Given the description of an element on the screen output the (x, y) to click on. 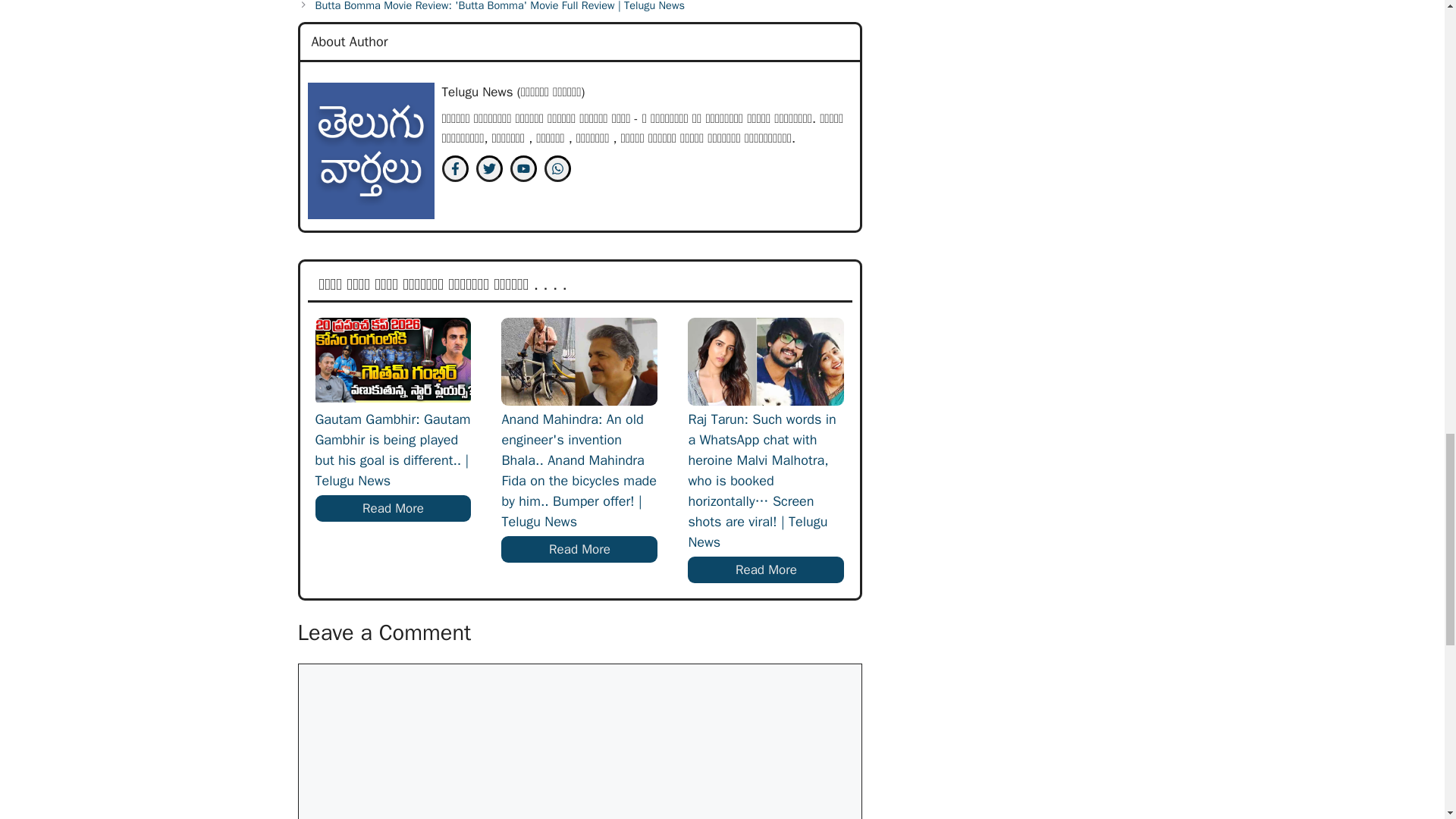
unnamed (370, 150)
